Given the description of an element on the screen output the (x, y) to click on. 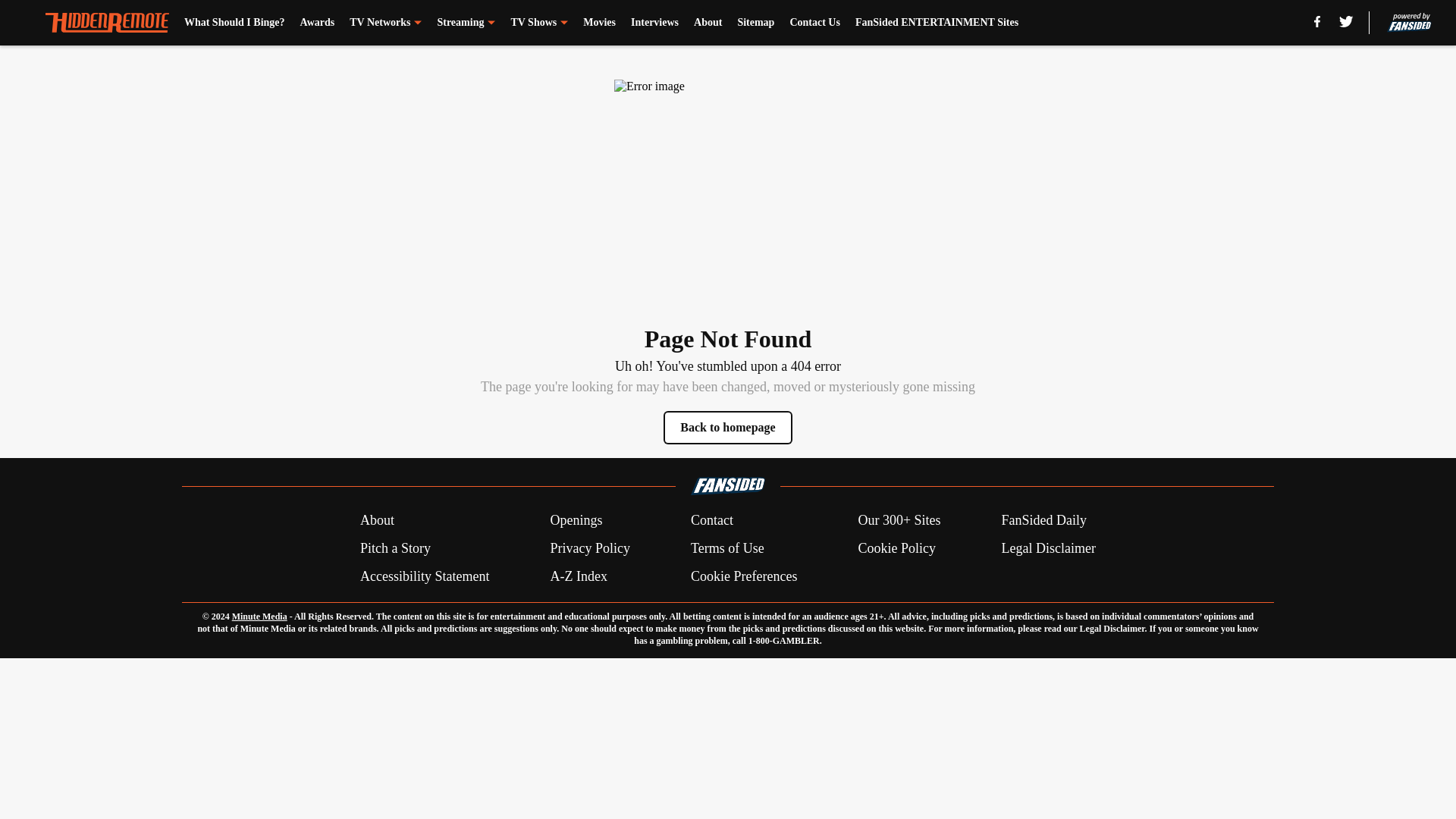
Interviews (654, 22)
About (708, 22)
Pitch a Story (394, 548)
What Should I Binge? (234, 22)
FanSided Daily (1044, 520)
FanSided ENTERTAINMENT Sites (936, 22)
Contact (711, 520)
Sitemap (755, 22)
Movies (599, 22)
Contact Us (814, 22)
